Given the description of an element on the screen output the (x, y) to click on. 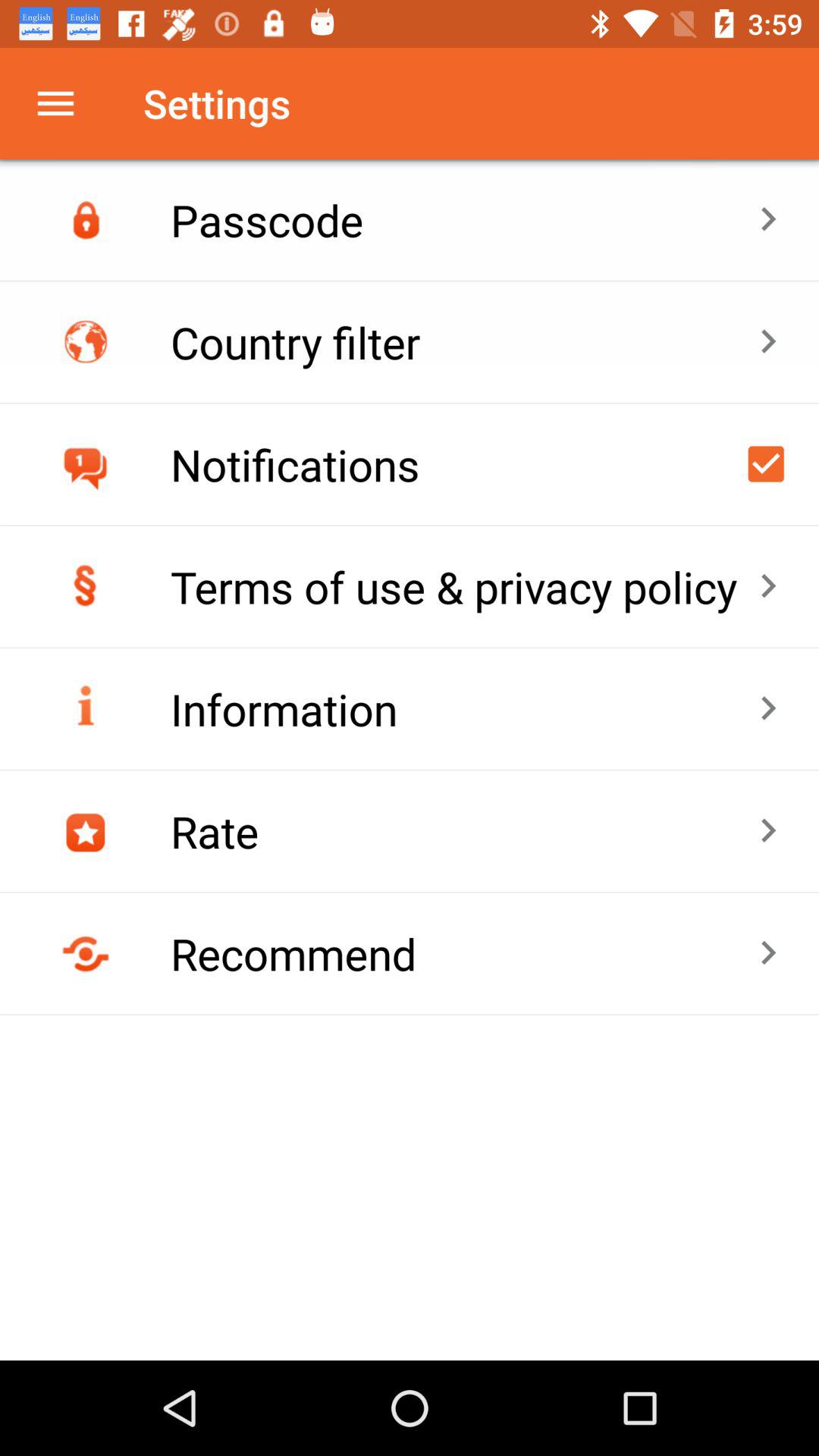
press icon above the information (464, 586)
